Given the description of an element on the screen output the (x, y) to click on. 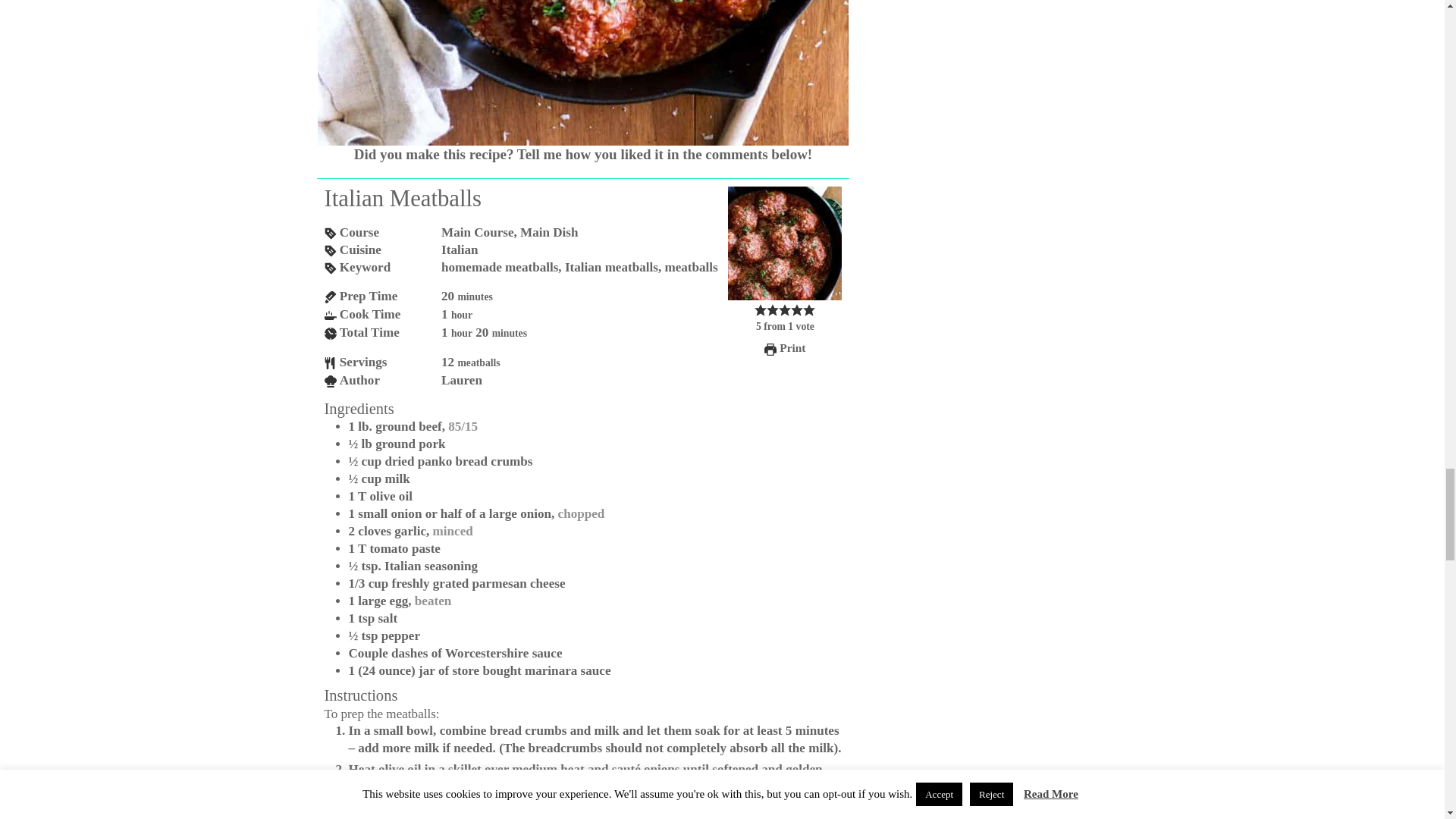
Print (784, 347)
